Given the description of an element on the screen output the (x, y) to click on. 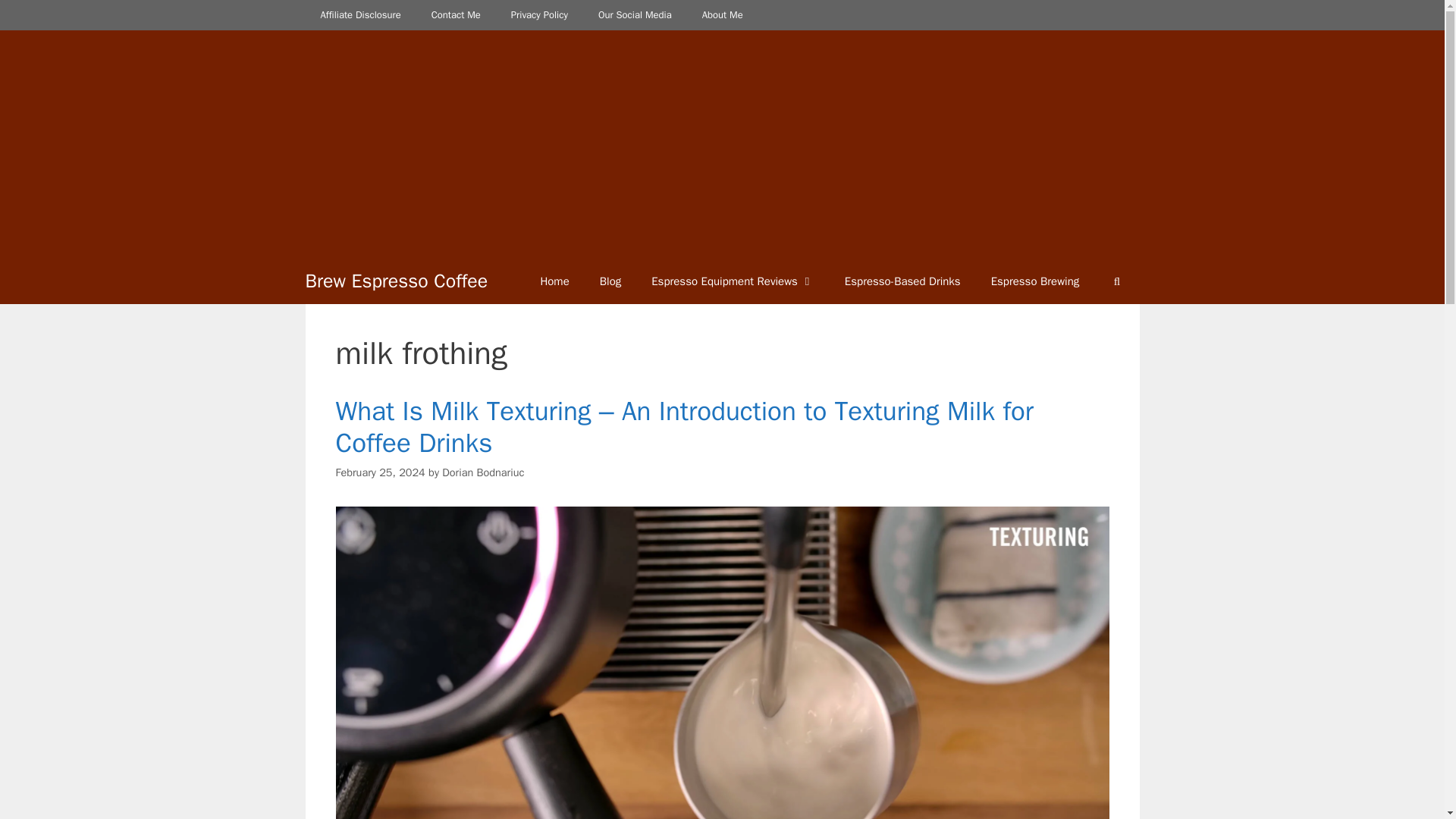
Contact Me (456, 15)
Espresso-Based Drinks (902, 280)
Home (553, 280)
Our Social Media (635, 15)
Privacy Policy (539, 15)
About Me (722, 15)
Blog (610, 280)
Affiliate Disclosure (359, 15)
Espresso Brewing (1034, 280)
